Given the description of an element on the screen output the (x, y) to click on. 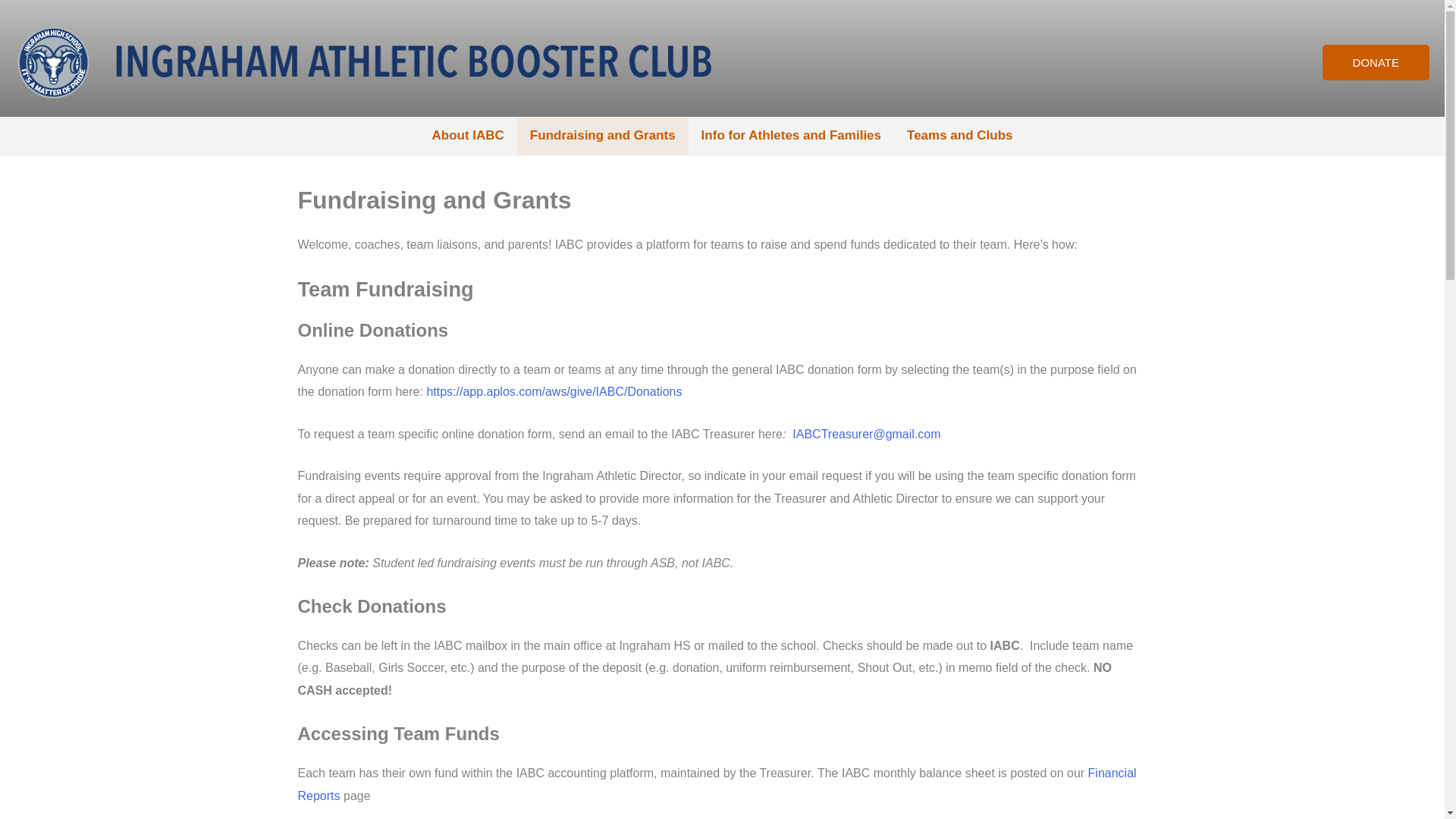
Fundraising and Grants (602, 135)
DONATE (1375, 63)
Teams and Clubs (959, 135)
Financial Reports (716, 784)
Info for Athletes and Families (790, 135)
About IABC (467, 135)
